Given the description of an element on the screen output the (x, y) to click on. 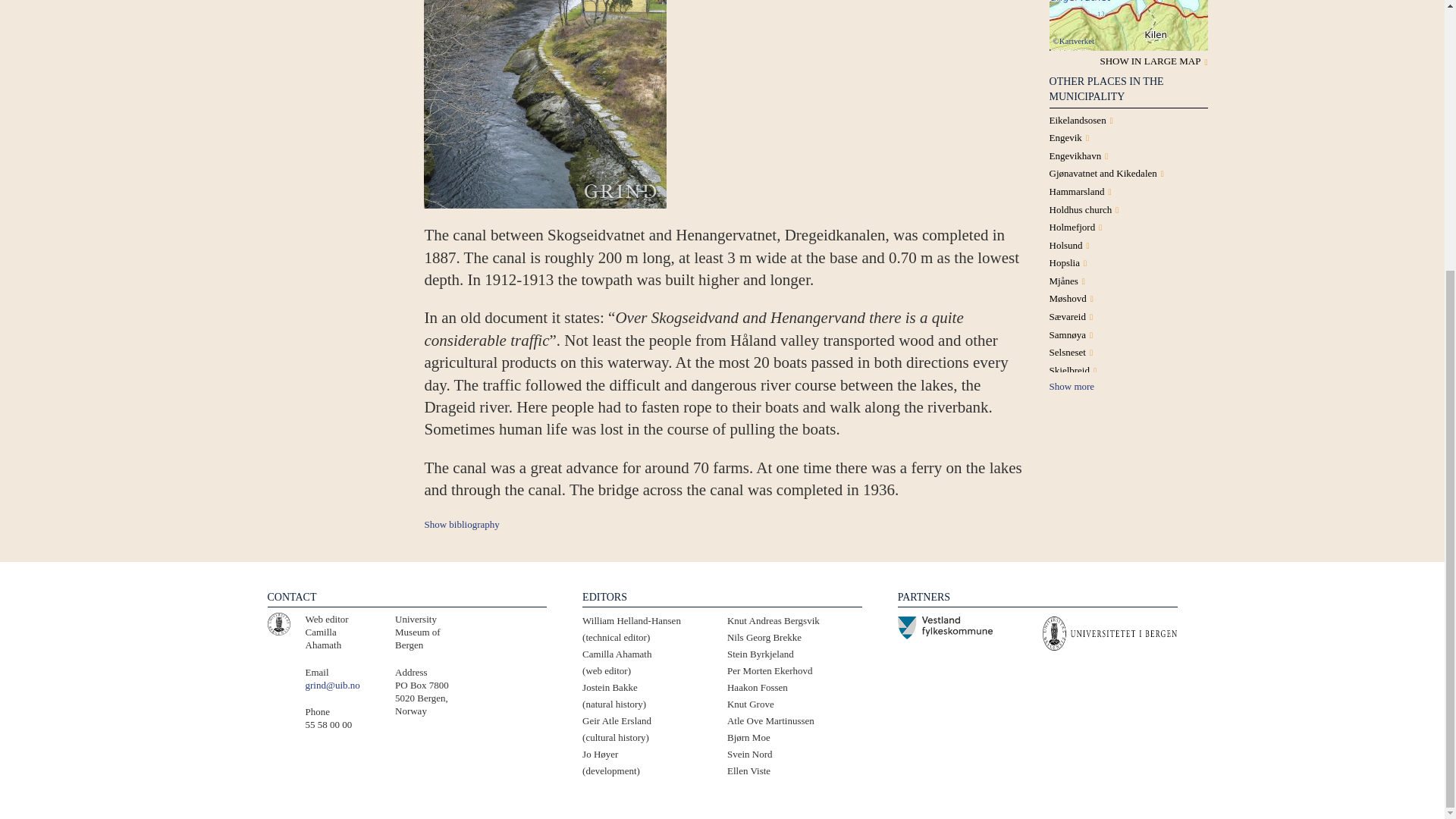
Engevik (1065, 137)
Holsund (1066, 244)
SHOW IN LARGE MAP (1149, 61)
Hammarsland (1077, 191)
Universitetet i bergen logo (277, 623)
Show in large map (1149, 61)
Eikelandsosen (1077, 120)
Show bibliography (461, 523)
Holdhus church (1080, 209)
Hopslia (1064, 262)
Engevikhavn (1075, 155)
Holmefjord (1072, 226)
